Given the description of an element on the screen output the (x, y) to click on. 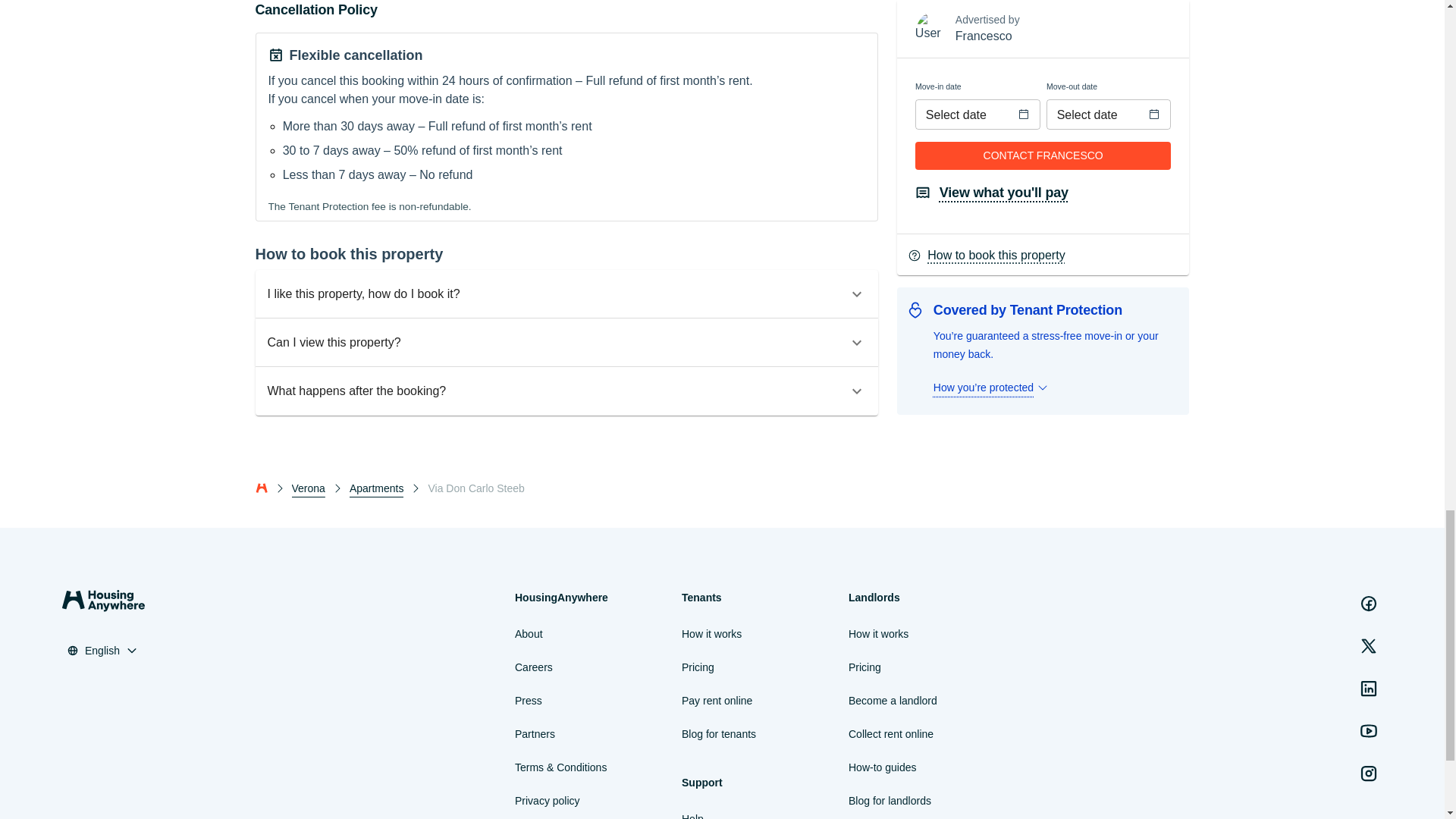
facebook (1369, 603)
Privacy policy (547, 800)
instagram (1369, 773)
Partners (534, 733)
Press (528, 700)
linkedin (1369, 688)
Careers (534, 667)
twitter (1369, 645)
Apartments (376, 488)
About (529, 633)
